Given the description of an element on the screen output the (x, y) to click on. 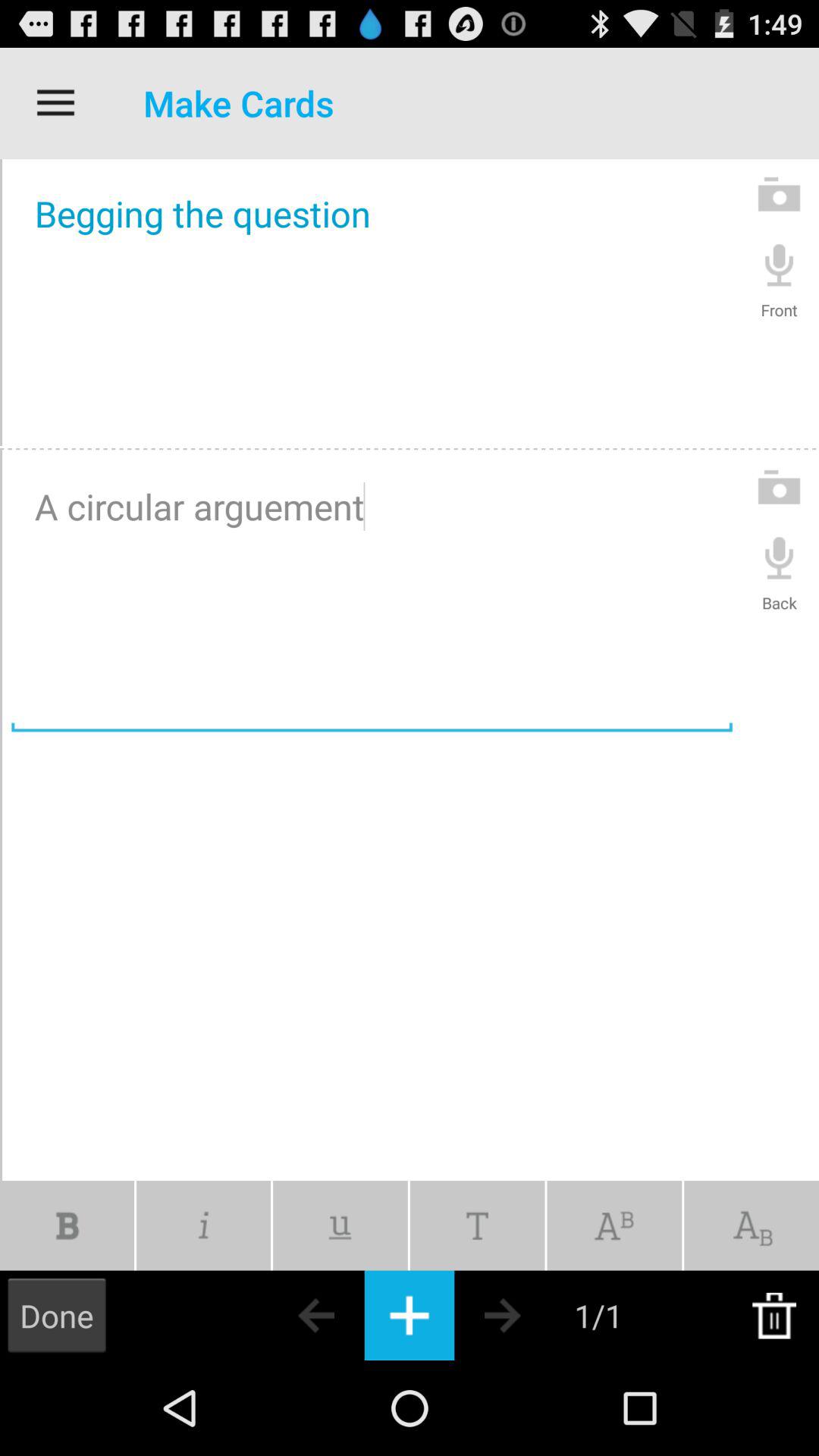
click on the camera icon to the right of a circular arguement (779, 486)
click on the bin icon which is bottom right hand side of the page (774, 1315)
click on the first camera icon (779, 193)
go to the mic icon in the first row (779, 263)
select the symbol which is above back (779, 557)
select the third button which is left to the button t (339, 1225)
select ab font which is at bottom first right side of the page (751, 1225)
